Given the description of an element on the screen output the (x, y) to click on. 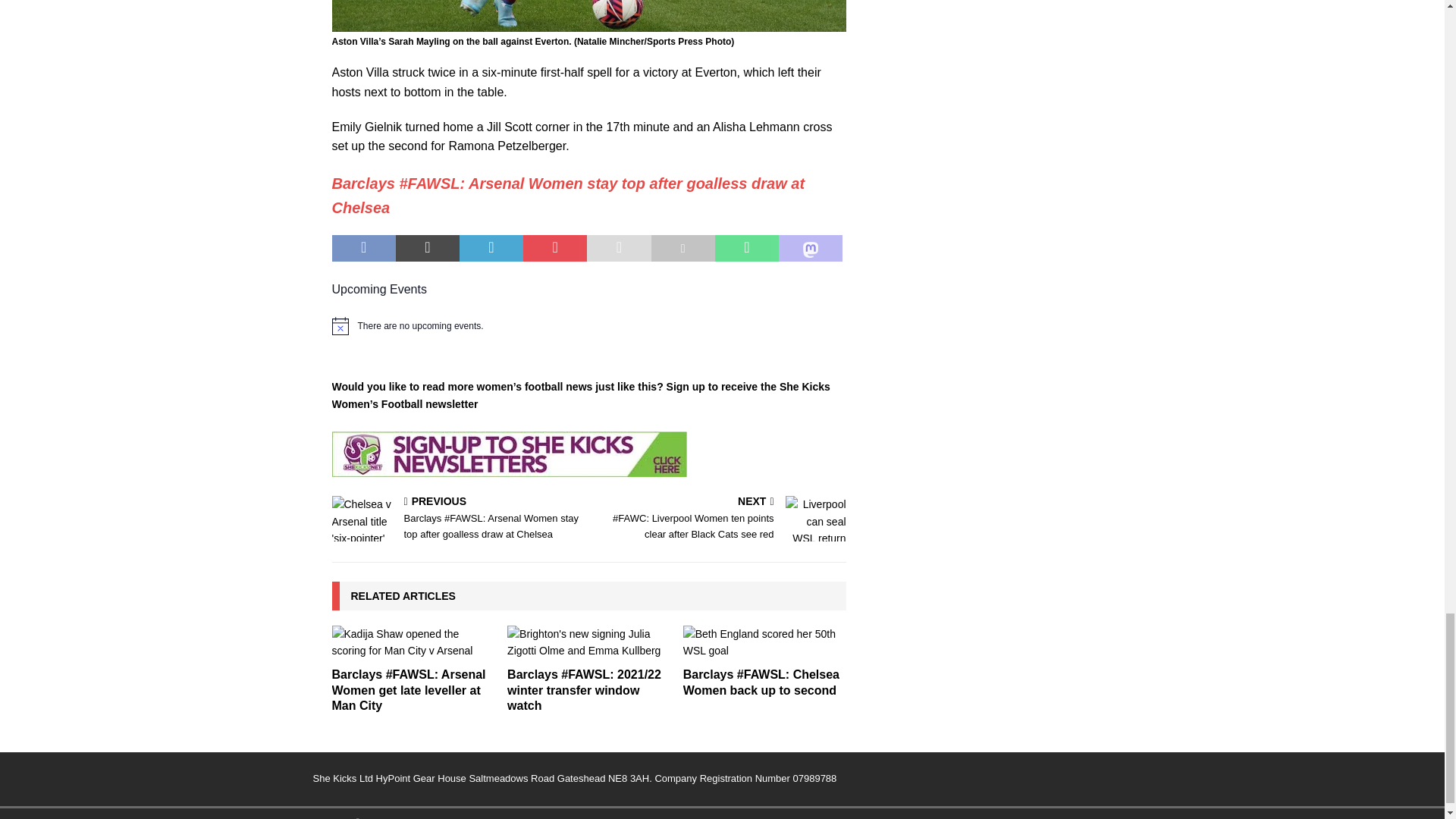
Send this article to a friend (618, 248)
Pin This Post (554, 248)
Tweet This Post (428, 248)
Share on LinkedIn (491, 248)
Share on Facebook (363, 248)
